Given the description of an element on the screen output the (x, y) to click on. 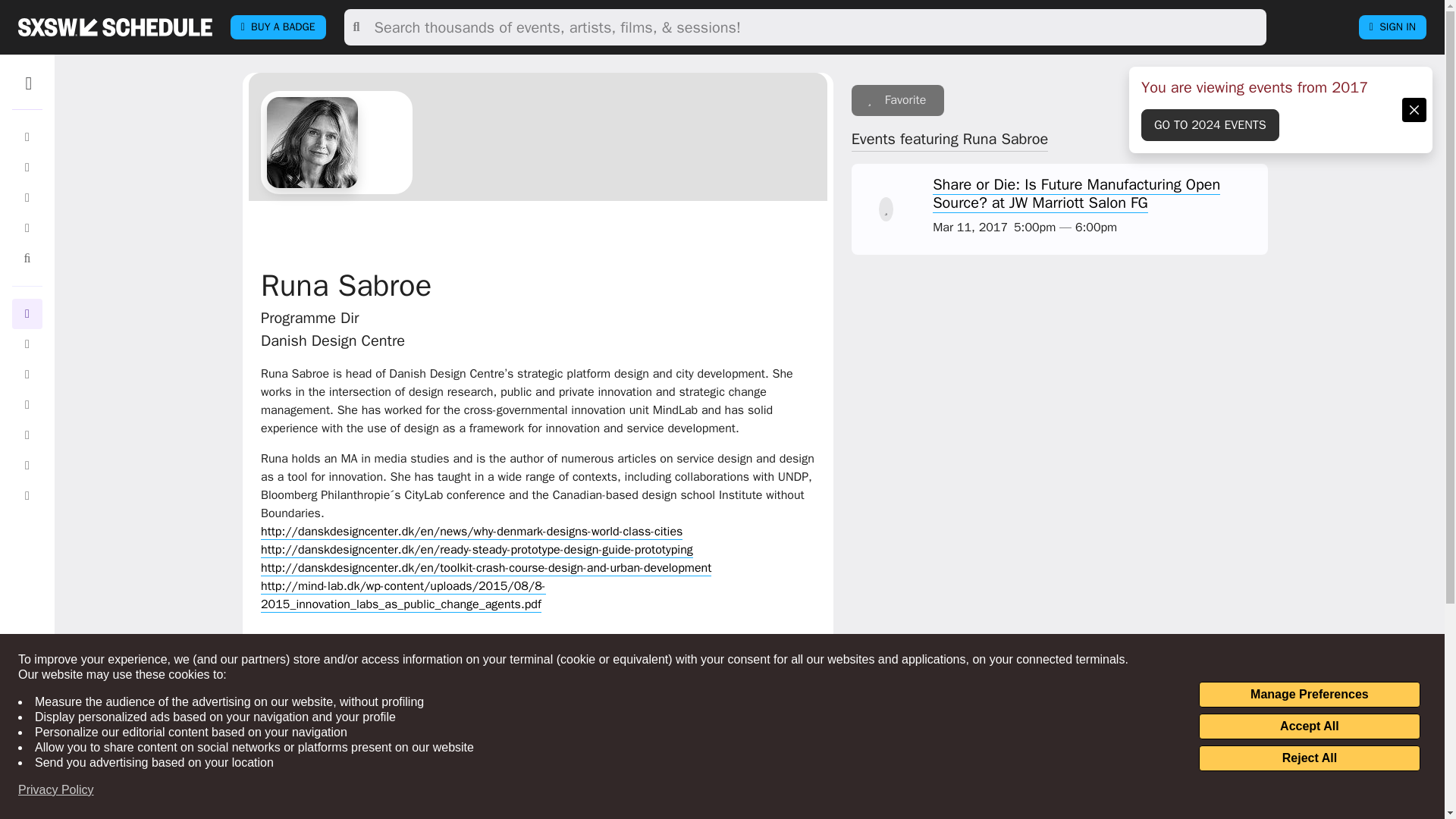
BUY A BADGE (278, 27)
Reject All (1309, 758)
Manage Preferences (1309, 694)
SIGN IN (1392, 27)
GO TO 2024 EVENTS (1210, 124)
Accept All (1309, 726)
Sign In to add to your favorites. (897, 100)
Privacy Policy (55, 789)
sxsw SCHEDULE (114, 27)
